Given the description of an element on the screen output the (x, y) to click on. 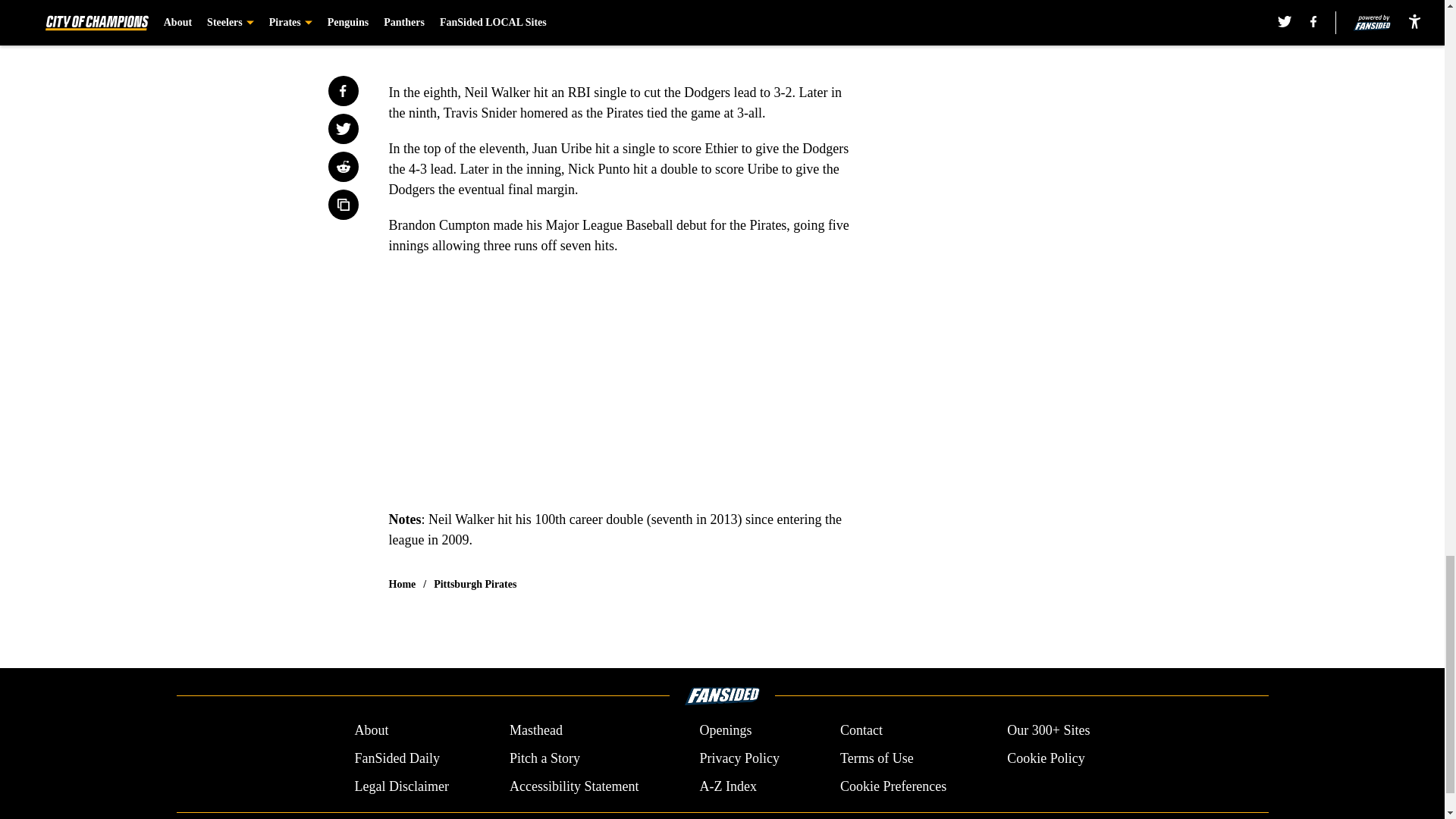
Accessibility Statement (574, 786)
Home (401, 584)
Pitch a Story (544, 758)
About (370, 730)
Contact (861, 730)
Pittsburgh Pirates (474, 584)
A-Z Index (726, 786)
Cookie Policy (1045, 758)
Privacy Policy (738, 758)
Masthead (535, 730)
